Given the description of an element on the screen output the (x, y) to click on. 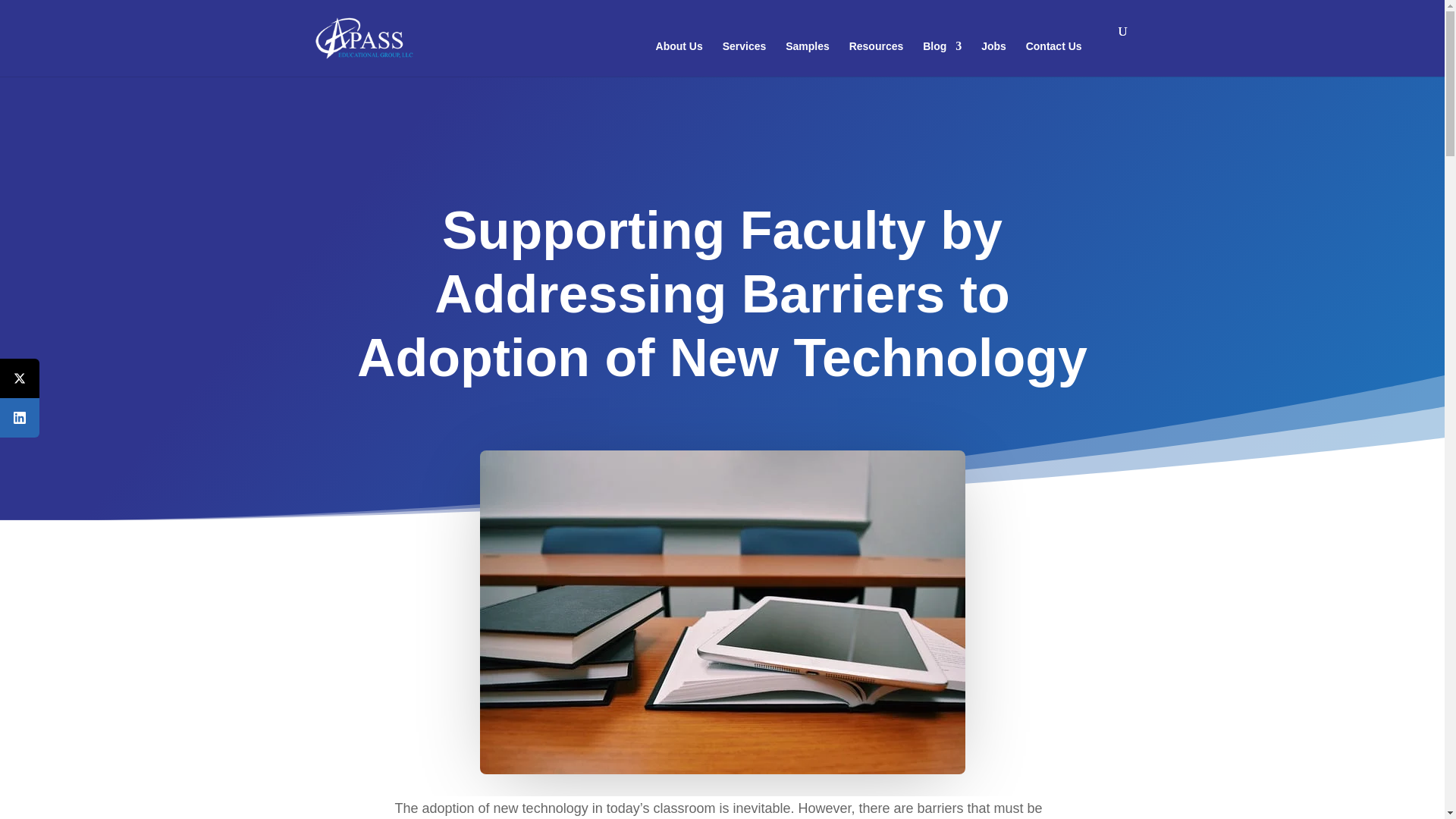
Resources (876, 58)
Blog (941, 58)
Samples (807, 58)
About Us (679, 58)
Contact Us (1053, 58)
Services (744, 58)
